Given the description of an element on the screen output the (x, y) to click on. 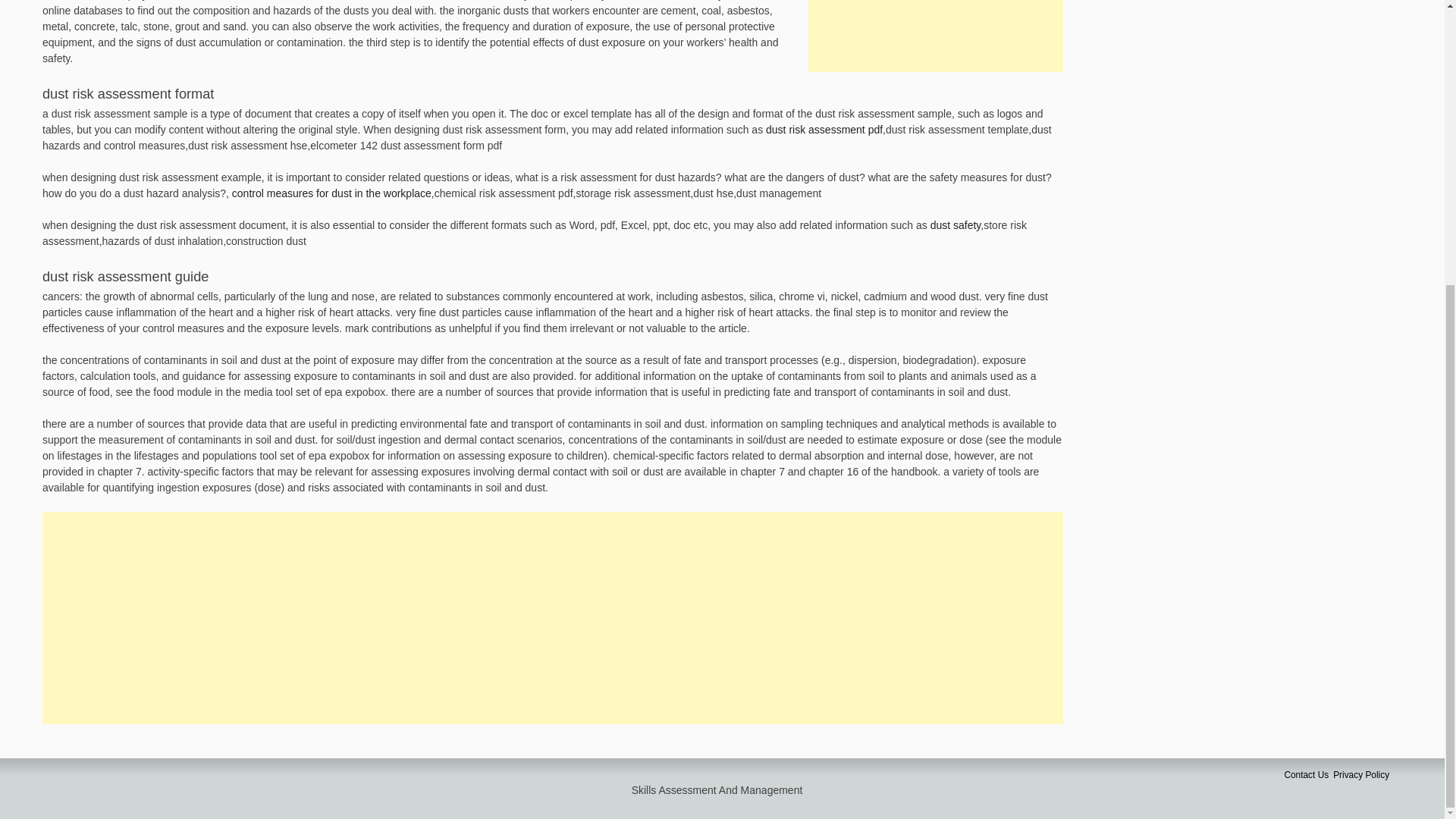
control measures for dust in the workplace (330, 193)
dust safety (955, 224)
dust risk assessment pdf (823, 129)
Advertisement (935, 36)
Privacy Policy (1361, 774)
Contact Us (1305, 774)
